Given the description of an element on the screen output the (x, y) to click on. 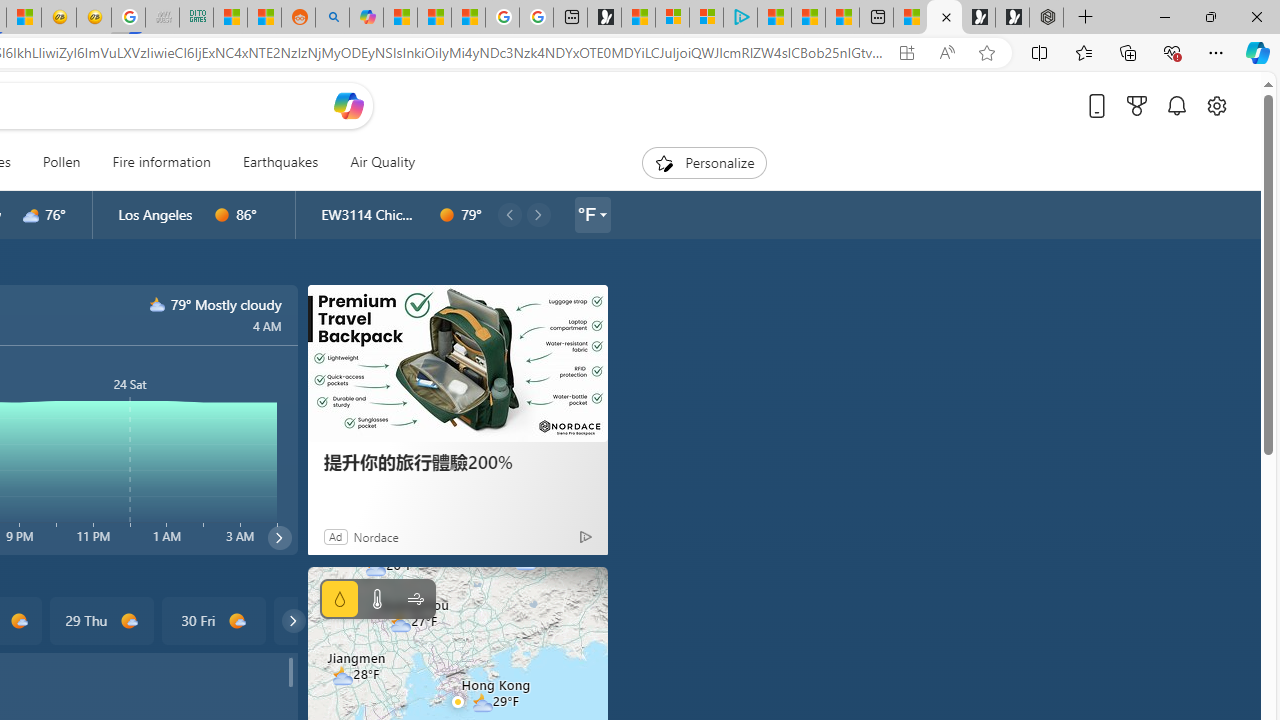
d1000 (235, 621)
App available. Install Microsoft Start Weather (906, 53)
29 Thu d1000 (100, 620)
Precipitation (339, 599)
Pollen (61, 162)
